Given the description of an element on the screen output the (x, y) to click on. 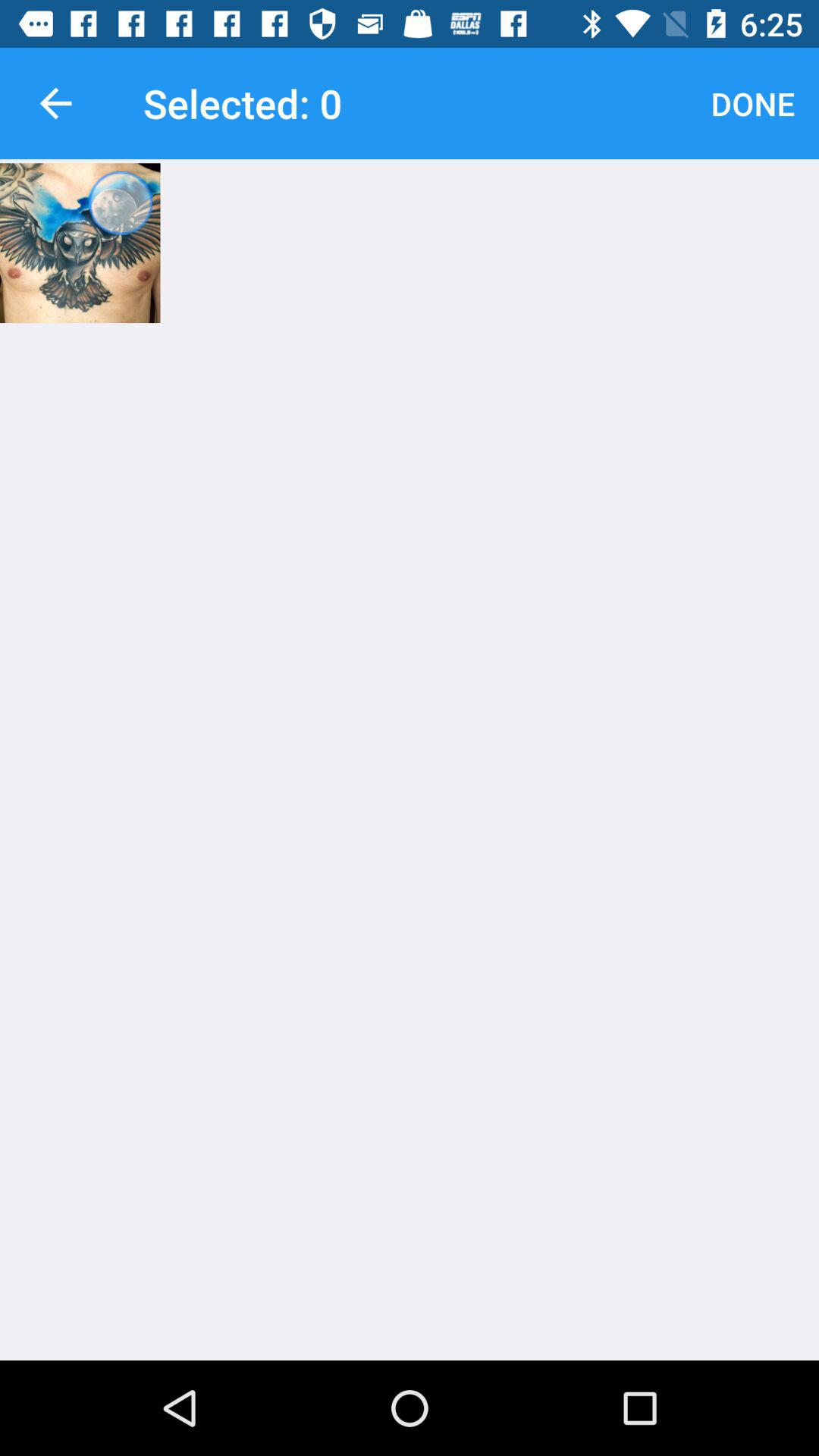
launch the icon next to the selected: 0 (753, 103)
